Given the description of an element on the screen output the (x, y) to click on. 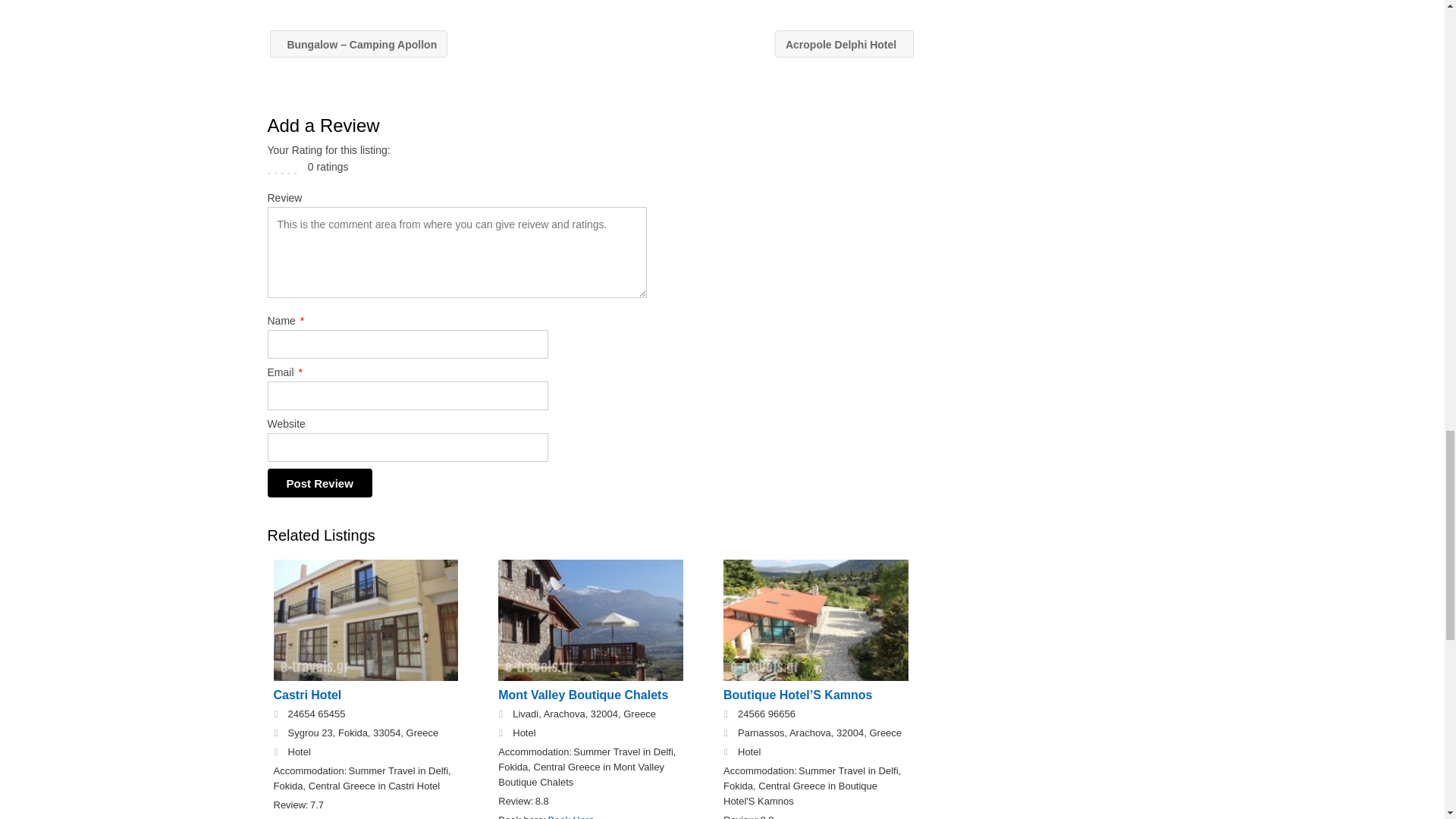
Post Review (318, 482)
